Given the description of an element on the screen output the (x, y) to click on. 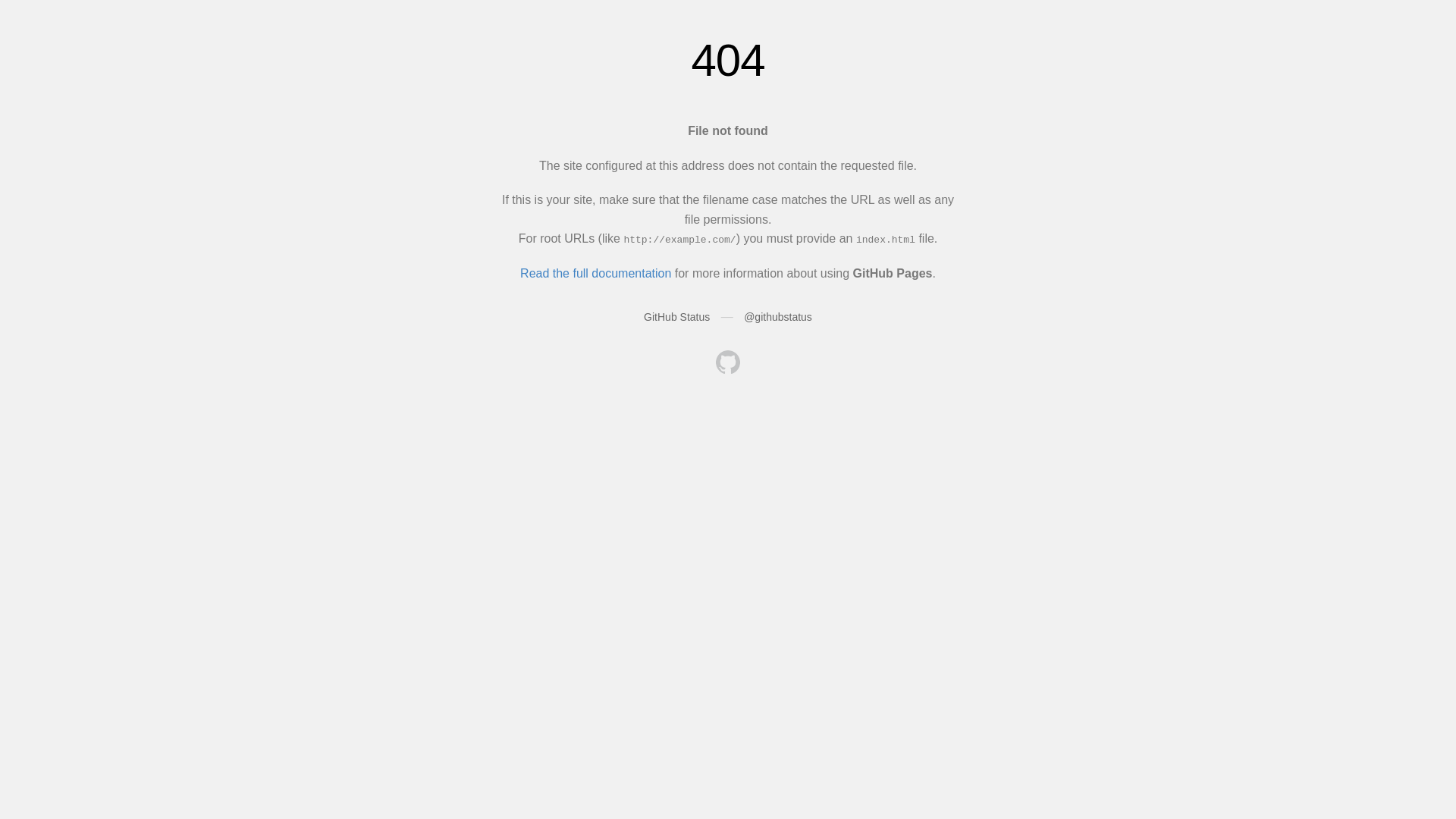
Read the full documentation Element type: text (595, 272)
@githubstatus Element type: text (777, 316)
GitHub Status Element type: text (676, 316)
